Given the description of an element on the screen output the (x, y) to click on. 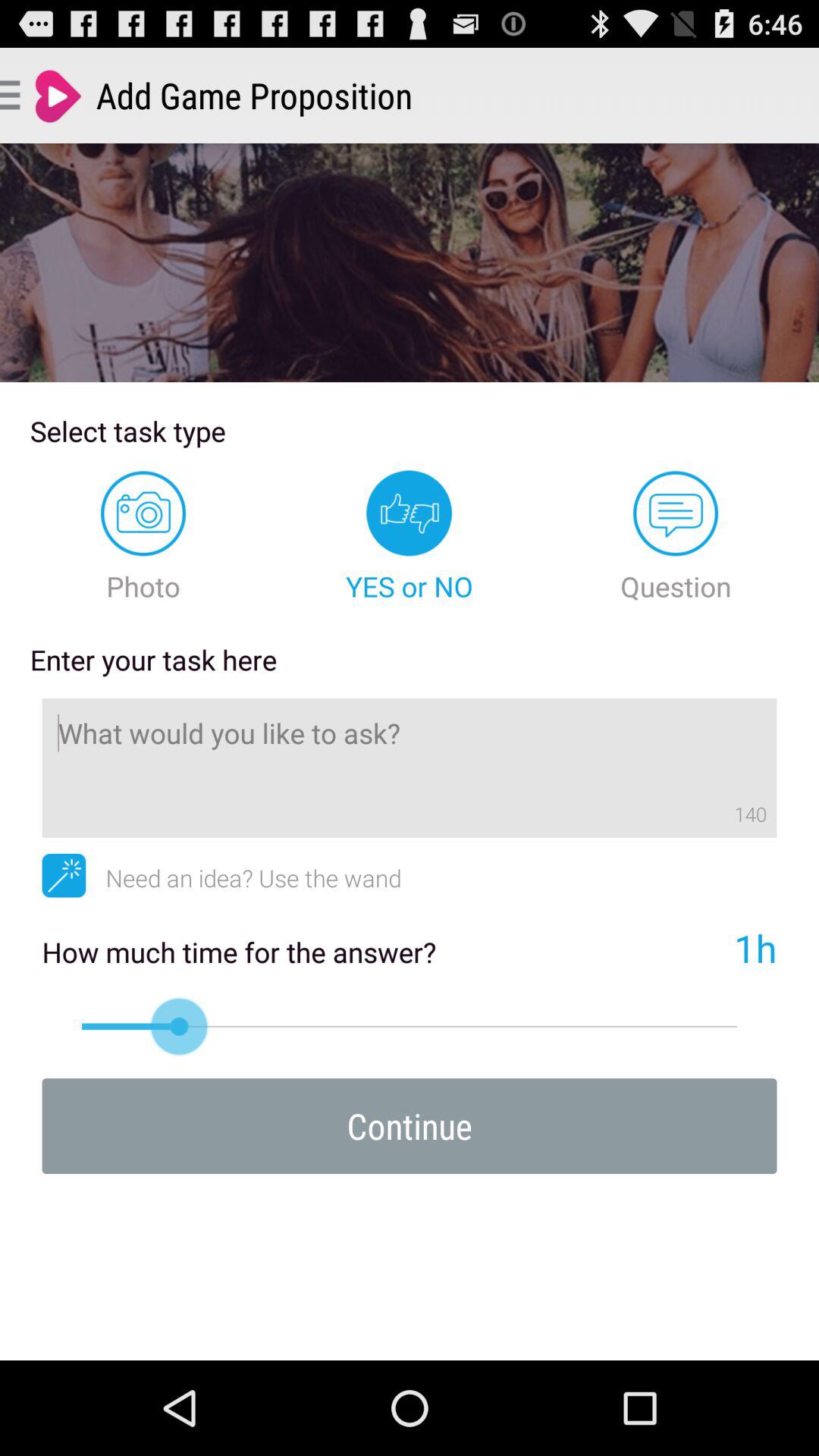
ask your questions or feedback (409, 767)
